Given the description of an element on the screen output the (x, y) to click on. 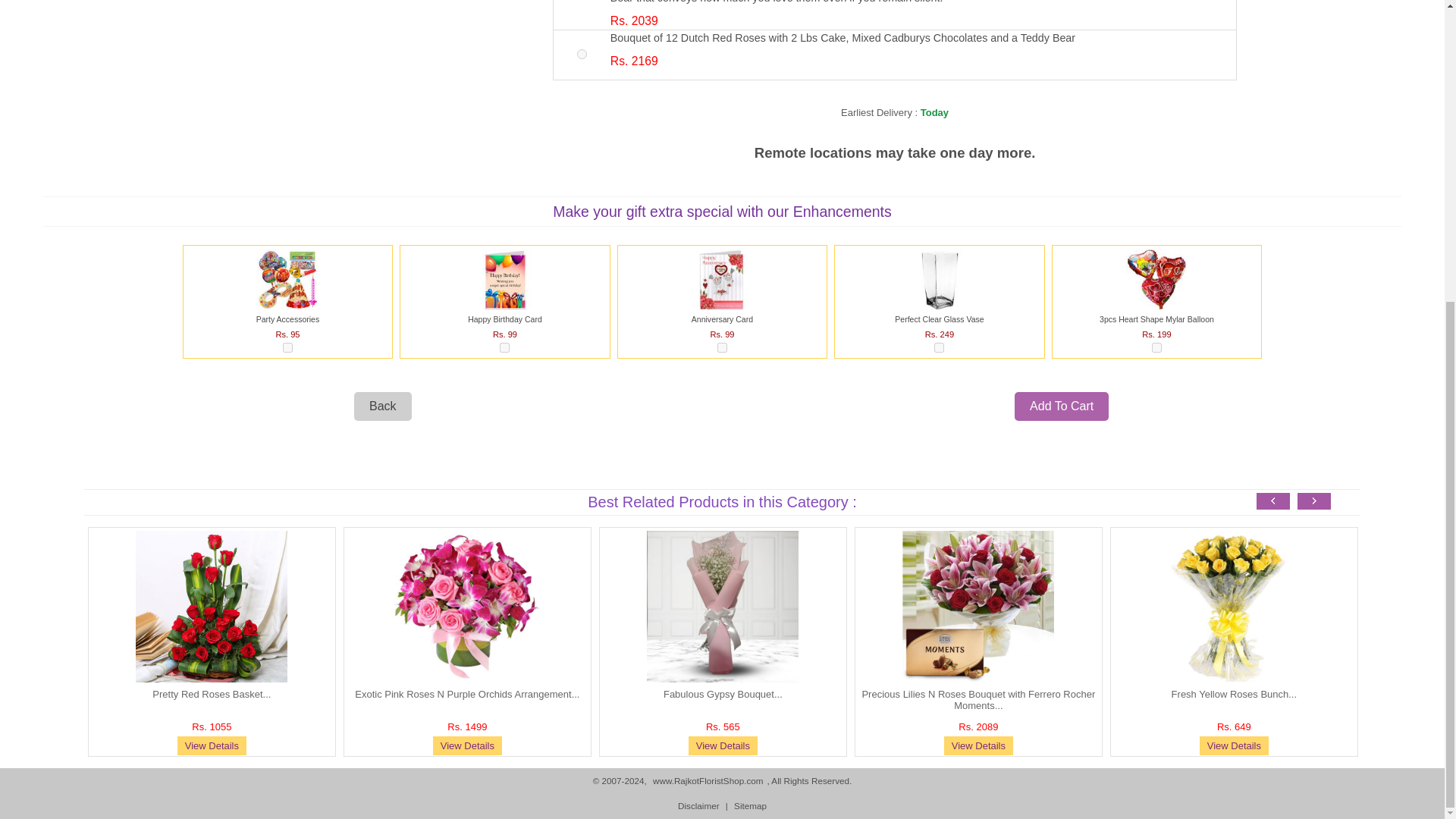
CMH105A (581, 53)
